Given the description of an element on the screen output the (x, y) to click on. 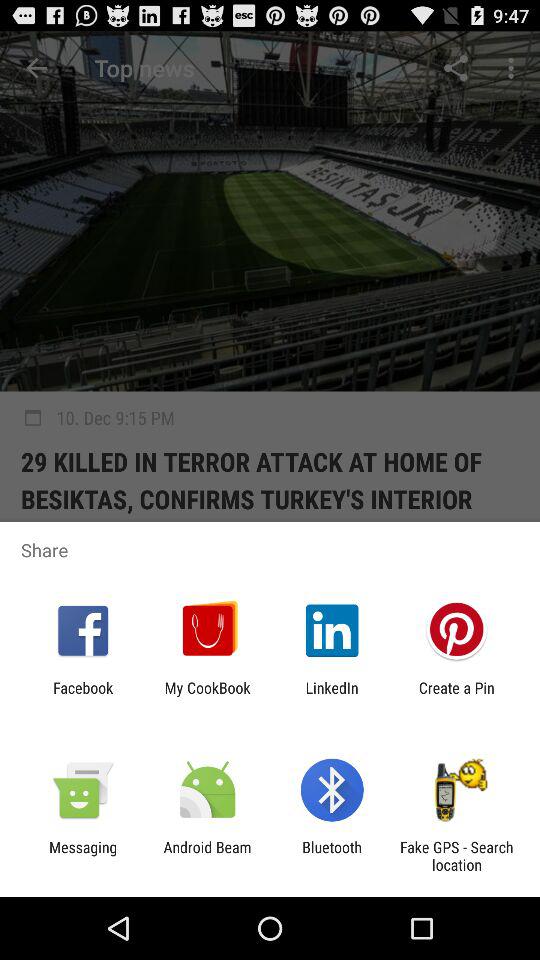
swipe until android beam icon (207, 856)
